Given the description of an element on the screen output the (x, y) to click on. 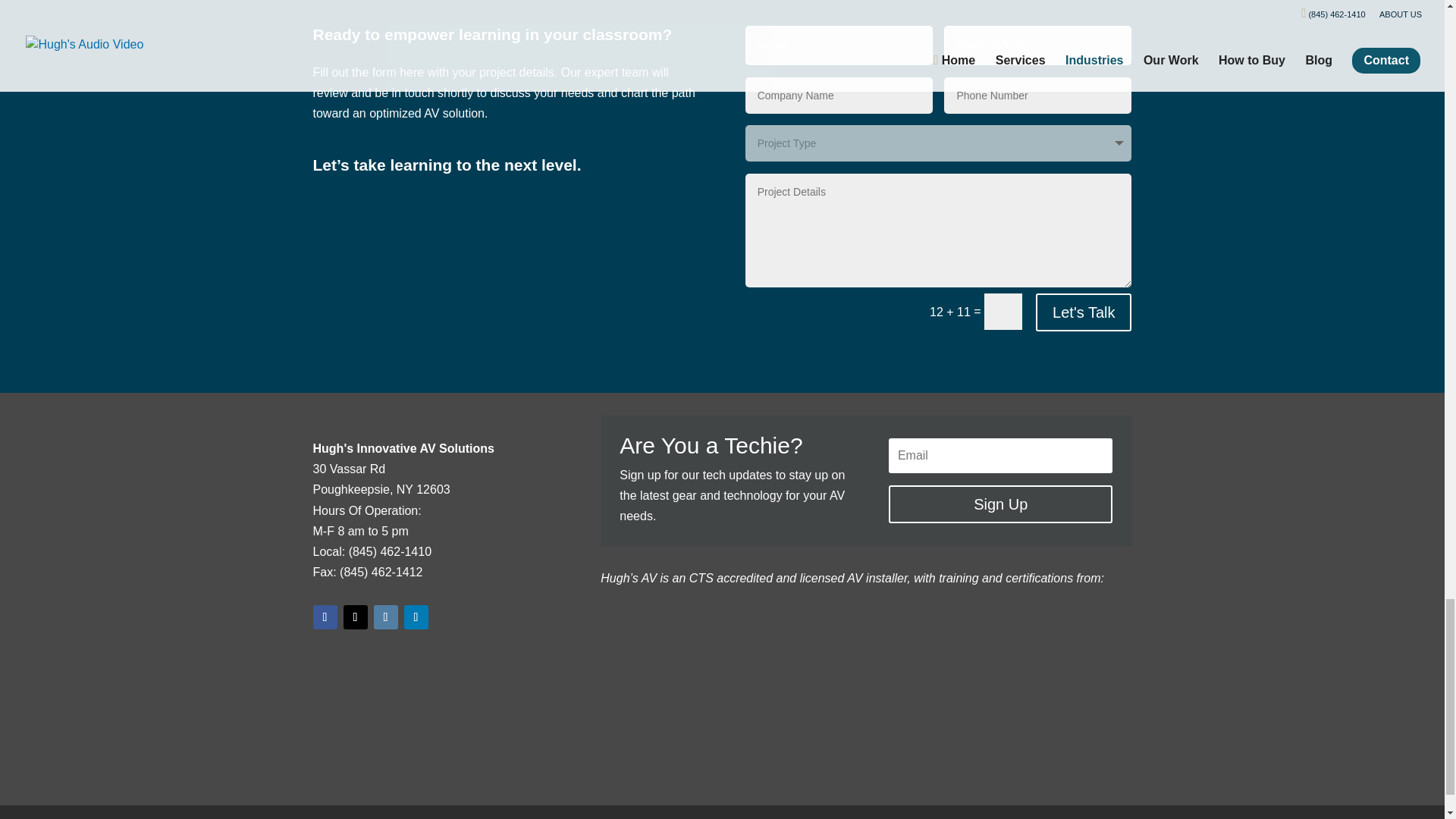
Let's Talk (1083, 312)
Follow on LinkedIn (415, 617)
Follow on Instagram (384, 617)
Follow on Facebook (324, 617)
Follow on Twitter (354, 617)
Sign Up (1000, 504)
